Given the description of an element on the screen output the (x, y) to click on. 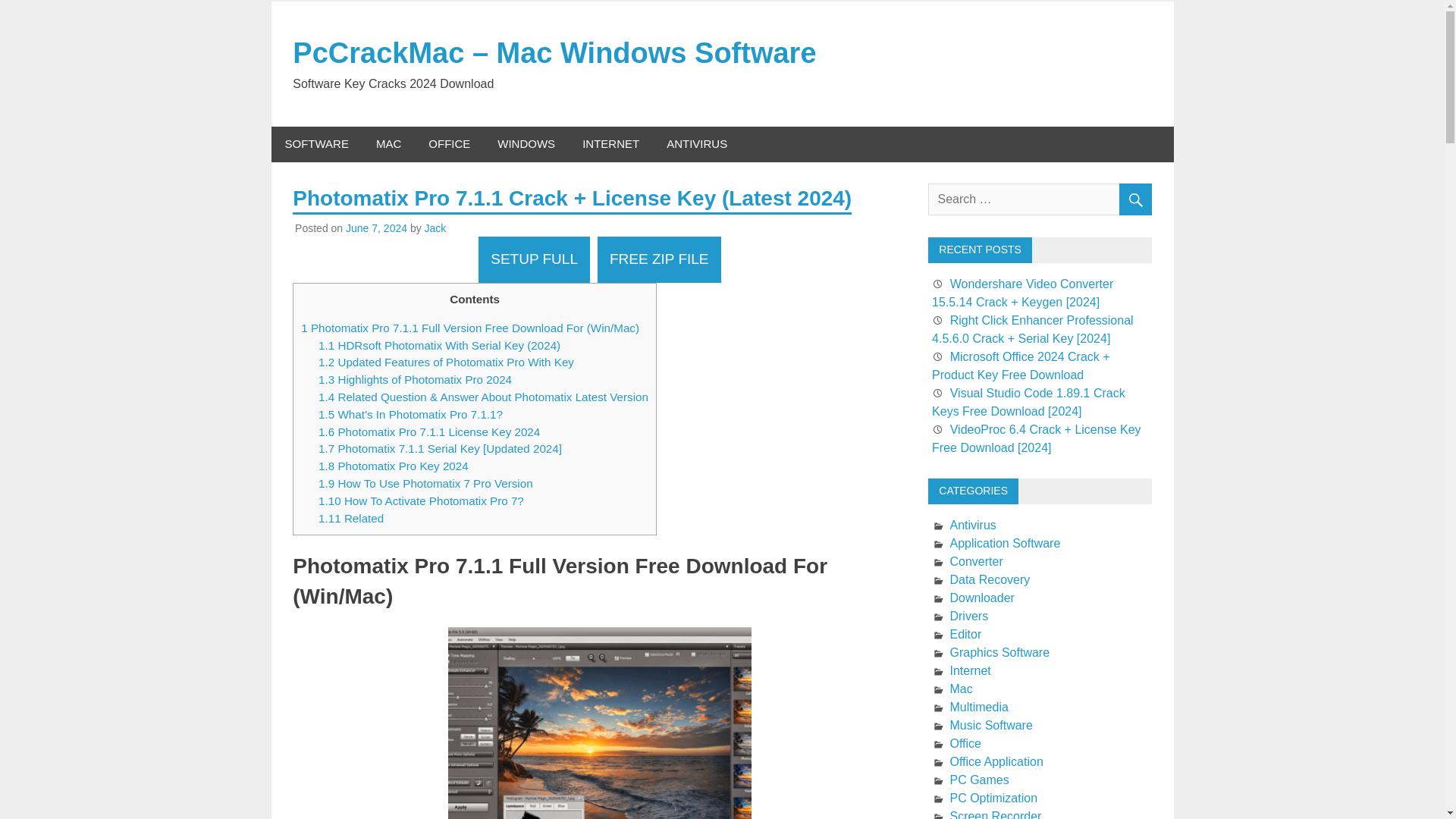
OFFICE (448, 144)
View all posts by Jack (435, 227)
WINDOWS (526, 144)
SETUP FULL (534, 259)
1.8 Photomatix Pro Key 2024 (393, 465)
1.6 Photomatix Pro 7.1.1 License Key 2024 (429, 431)
FREE ZIP FILE (658, 259)
SOFTWARE (316, 144)
MAC (388, 144)
INTERNET (610, 144)
1.2 Updated Features of Photomatix Pro With Key (445, 361)
ANTIVIRUS (696, 144)
1.9 How To Use Photomatix 7 Pro Version (425, 482)
1.11 Related (351, 517)
1.3 Highlights of Photomatix Pro 2024 (415, 379)
